Given the description of an element on the screen output the (x, y) to click on. 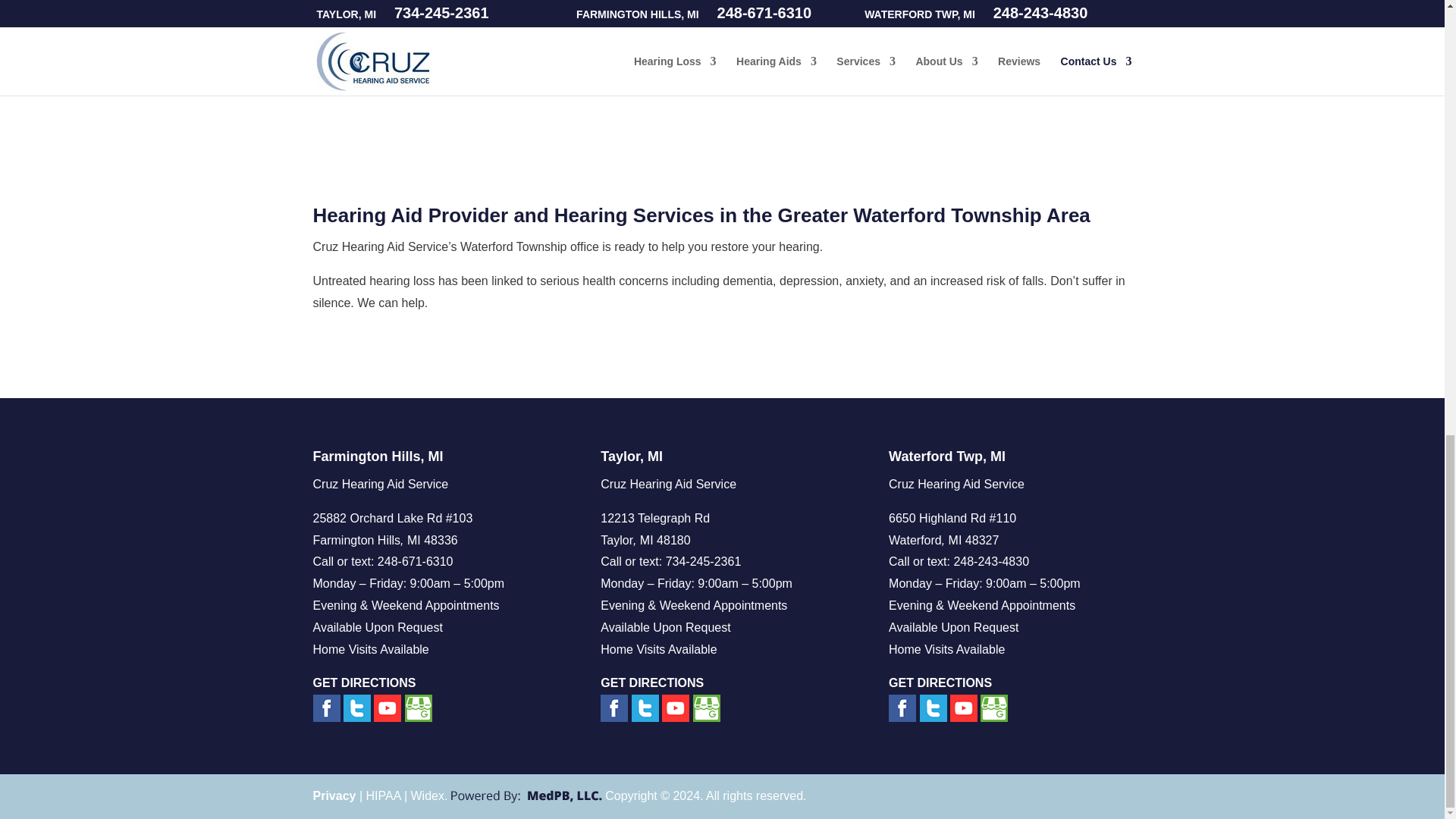
MedPB: Medical Practice Building, Marketing, Websites (526, 795)
